Given the description of an element on the screen output the (x, y) to click on. 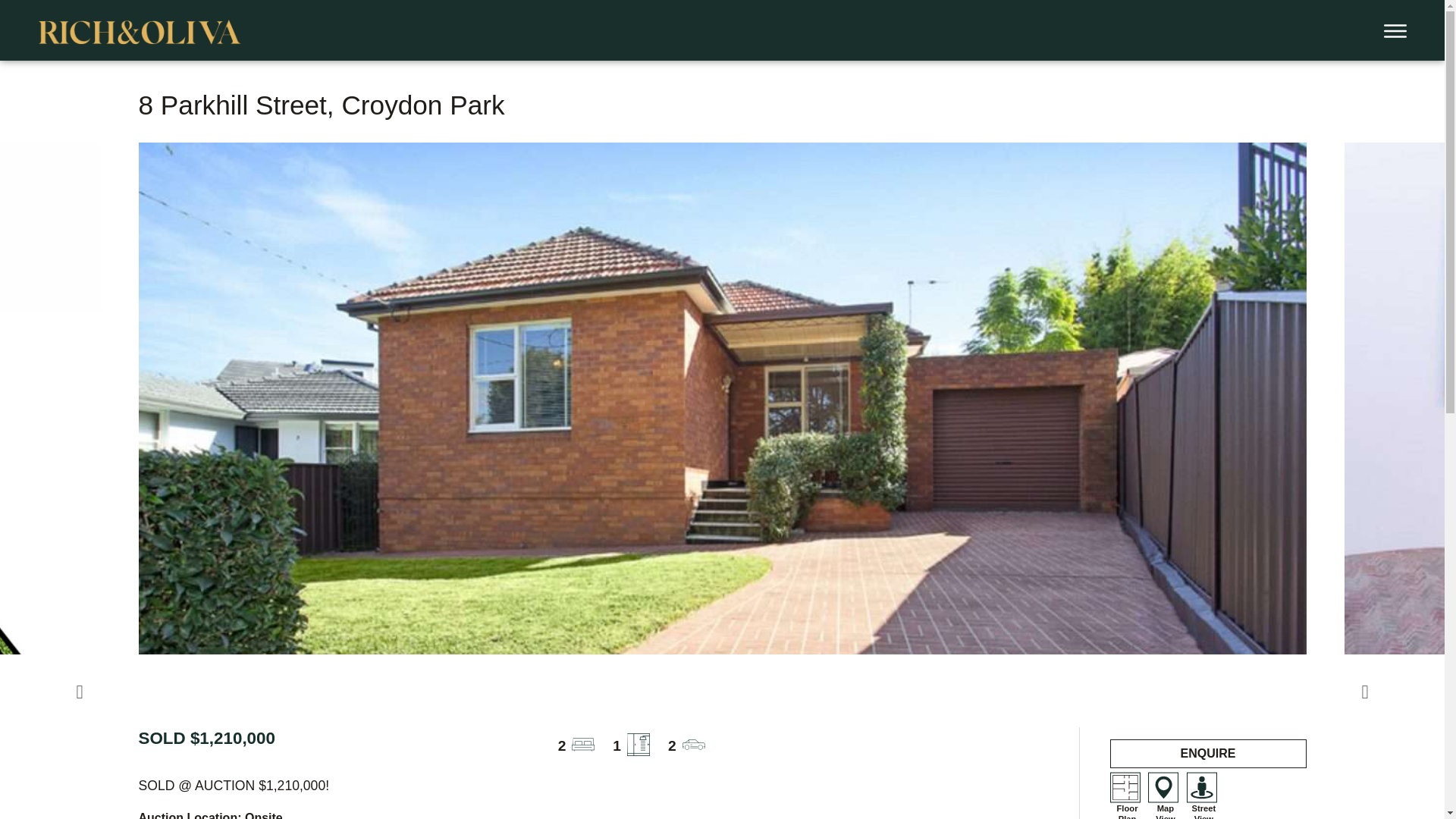
Previous (80, 692)
Next (1364, 692)
